Given the description of an element on the screen output the (x, y) to click on. 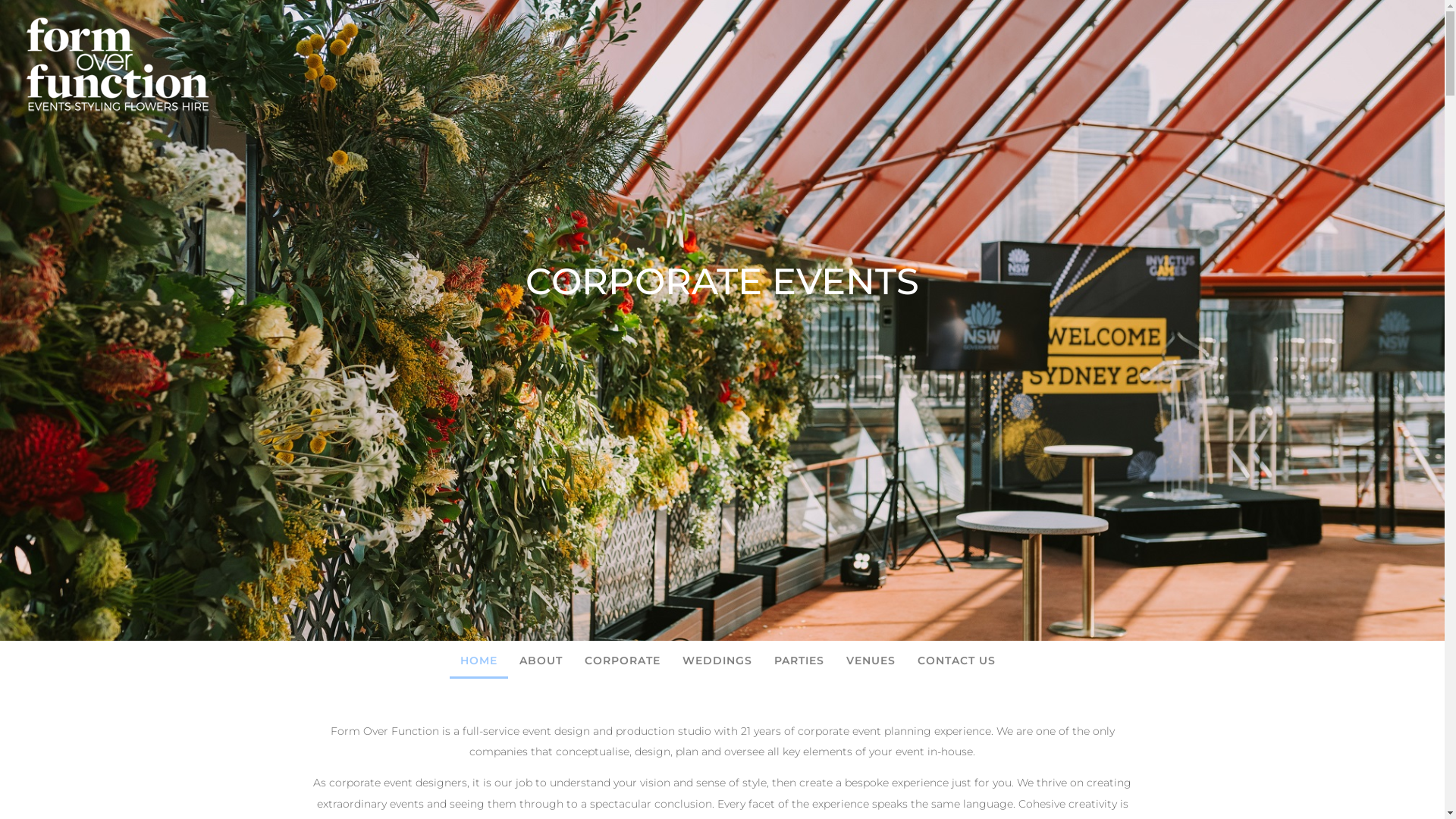
HOME Element type: text (478, 661)
PARTIES Element type: text (798, 661)
VENUES Element type: text (870, 661)
CORPORATE Element type: text (622, 661)
ABOUT Element type: text (540, 661)
CONTACT US Element type: text (956, 661)
WEDDINGS Element type: text (716, 661)
